Given the description of an element on the screen output the (x, y) to click on. 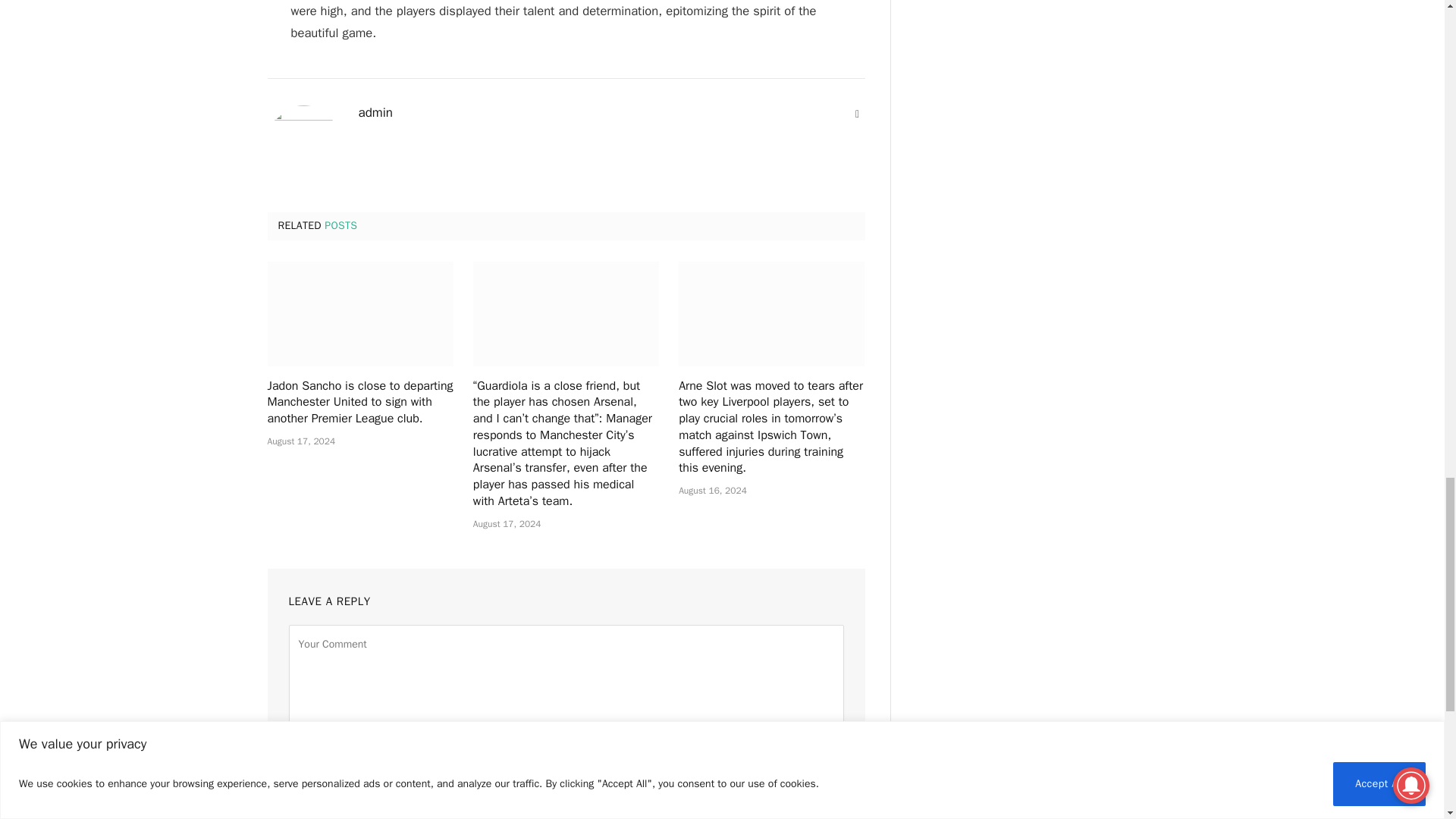
Website (856, 114)
admin (375, 112)
Website (856, 114)
Posts by admin (375, 112)
